Given the description of an element on the screen output the (x, y) to click on. 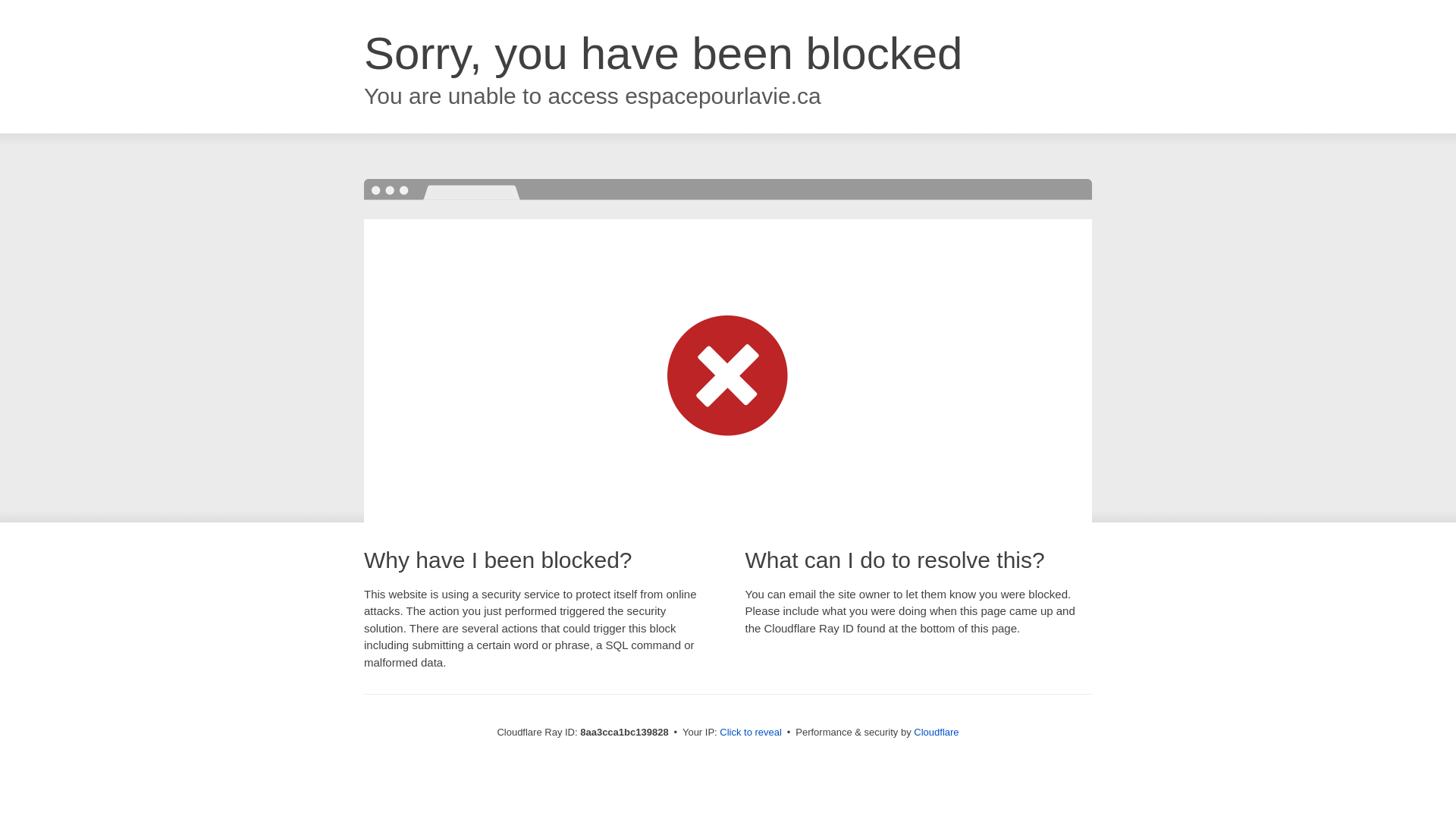
Cloudflare (936, 731)
Click to reveal (750, 732)
